Given the description of an element on the screen output the (x, y) to click on. 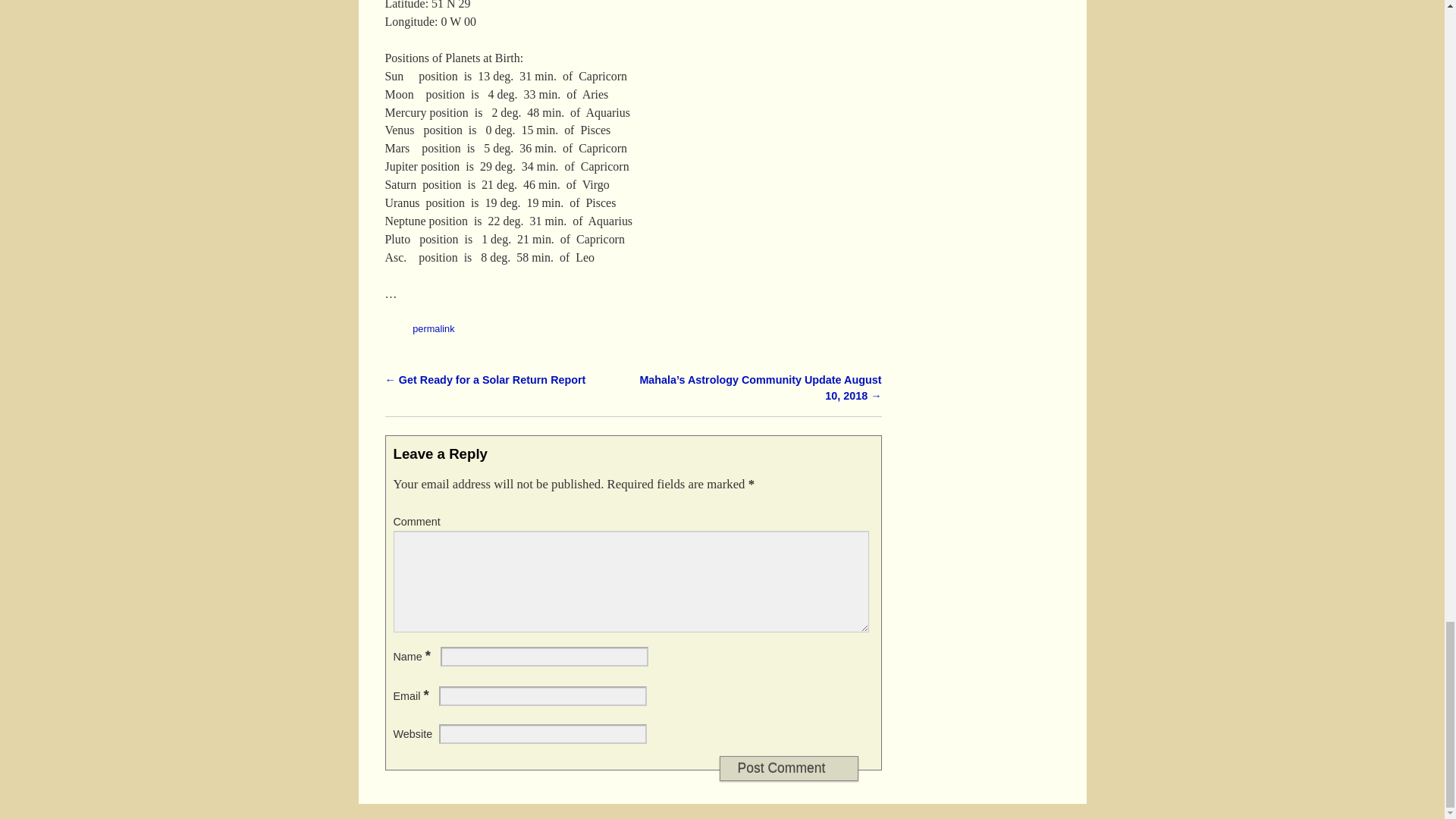
permalink (433, 328)
Post Comment (788, 768)
Post Comment (788, 768)
Permalink to The Personality of Bitcoin (433, 328)
